Given the description of an element on the screen output the (x, y) to click on. 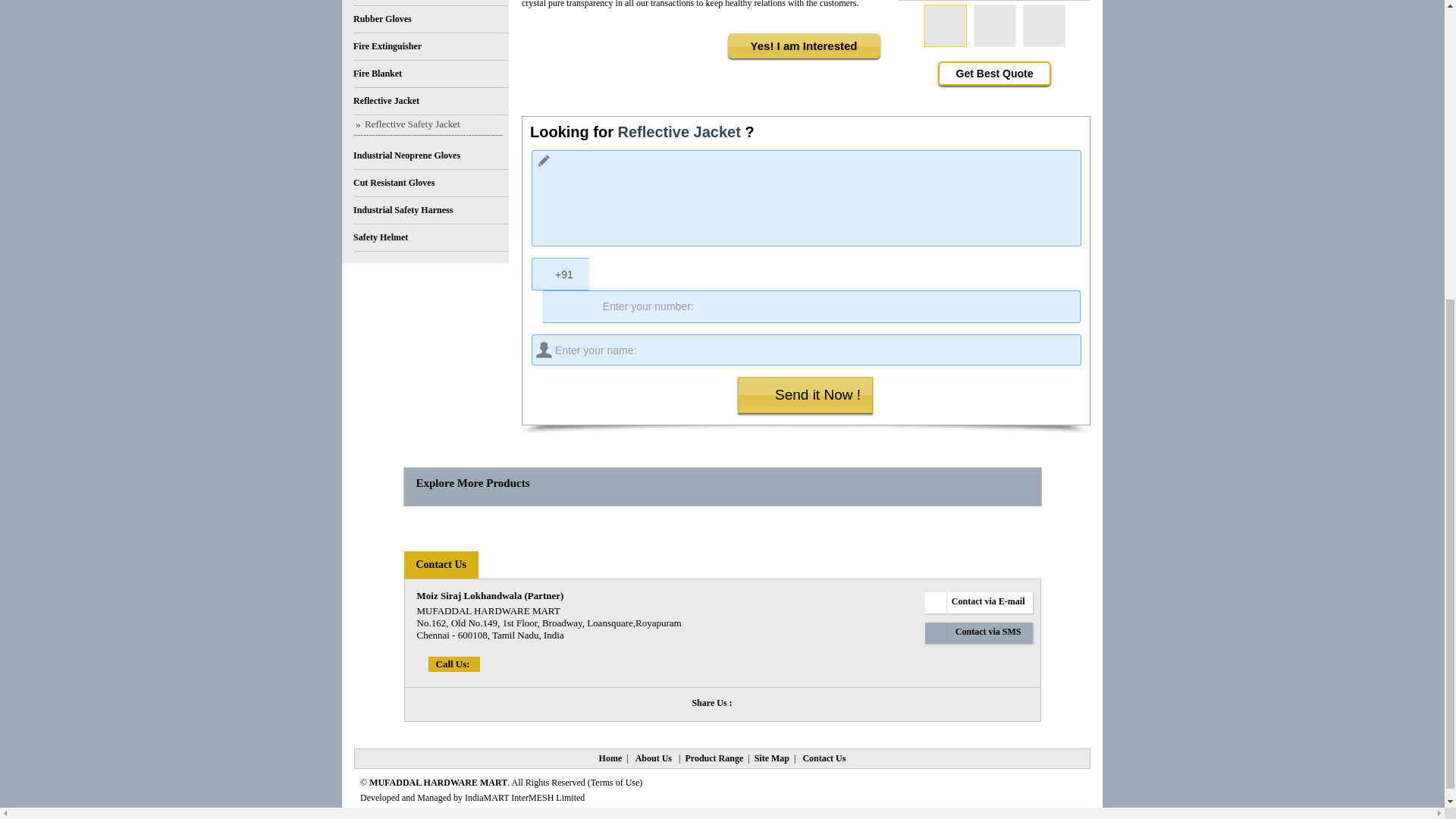
Send it Now ! (805, 394)
Send it Now ! (805, 394)
Enter your number: (810, 306)
Enter your name: (806, 349)
